Given the description of an element on the screen output the (x, y) to click on. 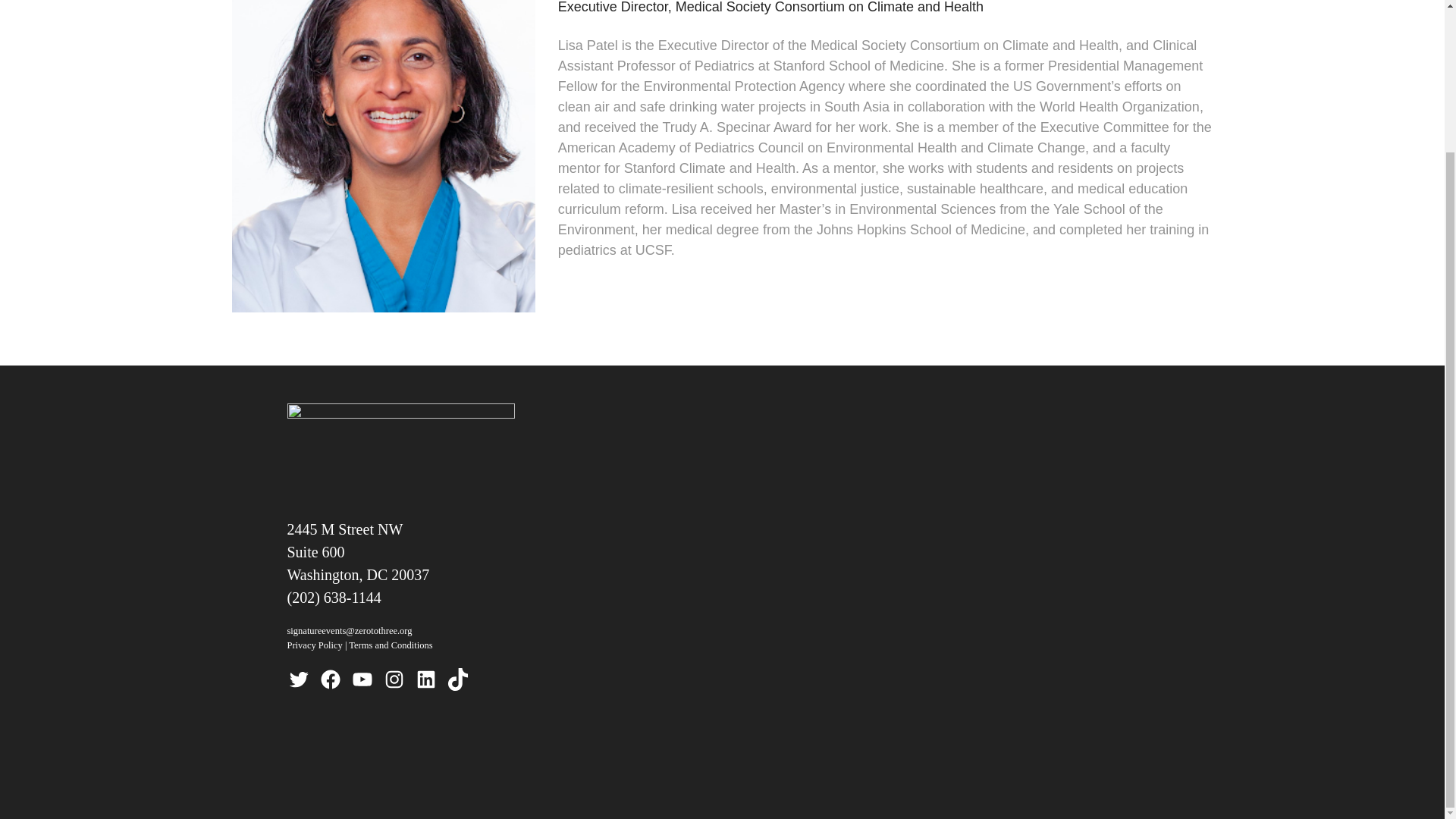
LinkedIn (424, 679)
YouTube (361, 679)
Facebook (329, 679)
Privacy Policy (314, 644)
Twitter (297, 679)
Instagram (392, 679)
TikTok (456, 679)
Terms and Conditions (390, 644)
